Given the description of an element on the screen output the (x, y) to click on. 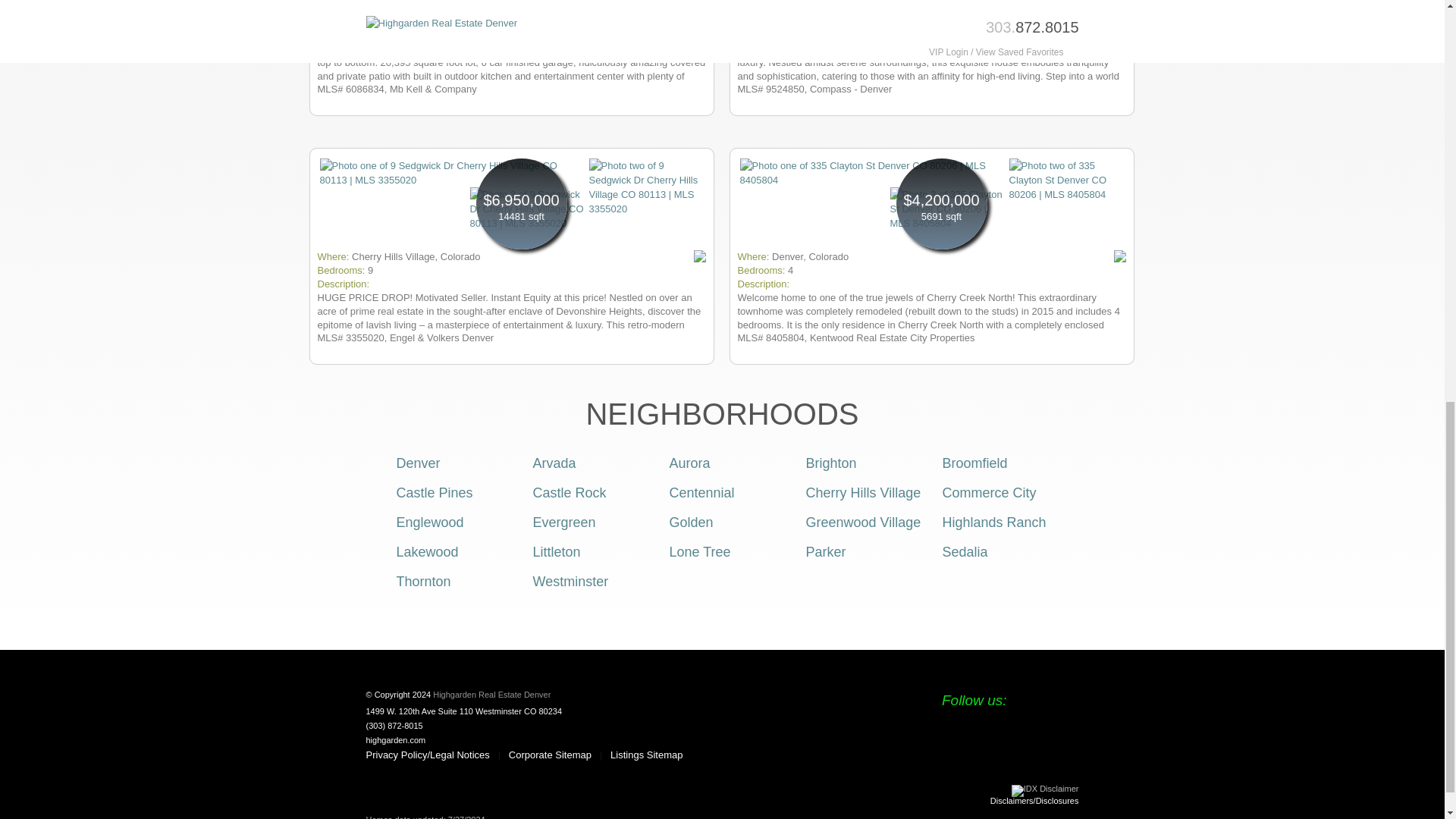
Arvada (553, 462)
Denver (417, 462)
Aurora (689, 462)
